Given the description of an element on the screen output the (x, y) to click on. 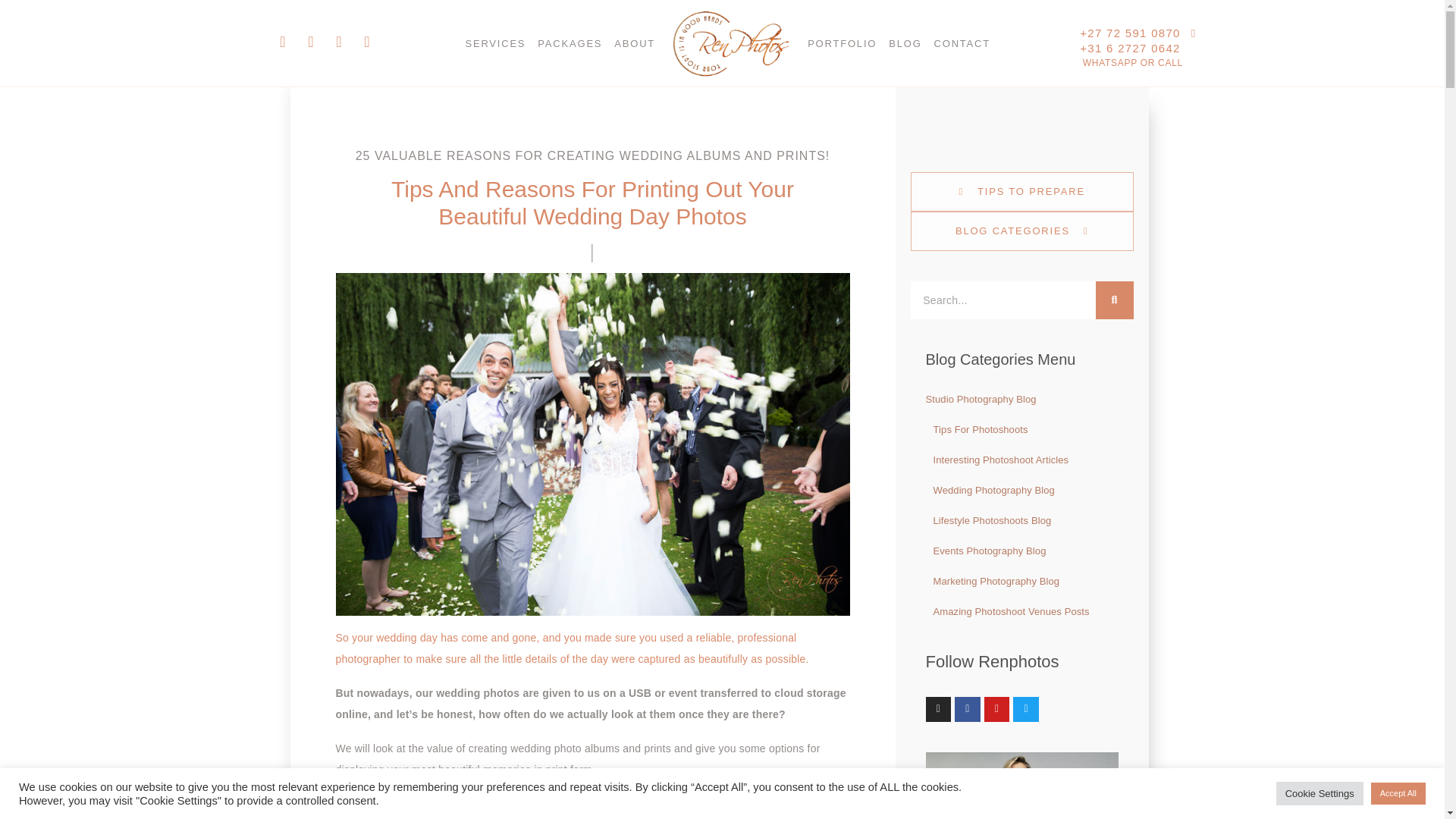
CONTACT (961, 42)
BLOG (904, 42)
PACKAGES (569, 42)
SERVICES (494, 42)
Twitter (366, 40)
Youtube (338, 40)
ABOUT (634, 42)
Facebook (282, 40)
PORTFOLIO (842, 42)
Photo Factory Venue (586, 808)
Instagram (310, 40)
